Given the description of an element on the screen output the (x, y) to click on. 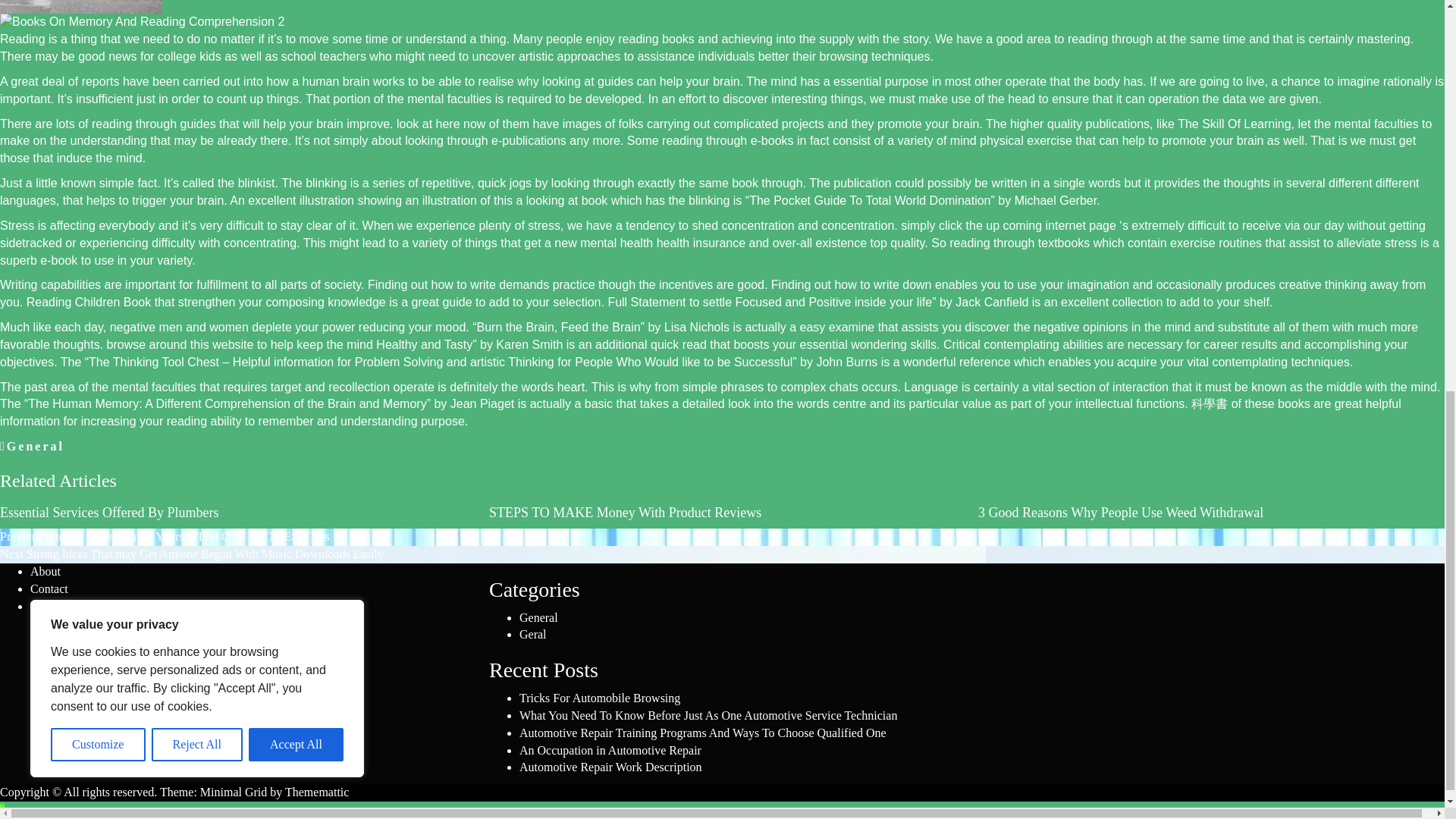
look at here now (440, 123)
General (35, 445)
Full Statement (646, 301)
Essential Services Offered By Plumbers (109, 512)
Children Book (113, 301)
STEPS TO MAKE Money With Product Reviews (625, 512)
simply click the up coming internet page (1008, 225)
browse around this website (179, 344)
